Given the description of an element on the screen output the (x, y) to click on. 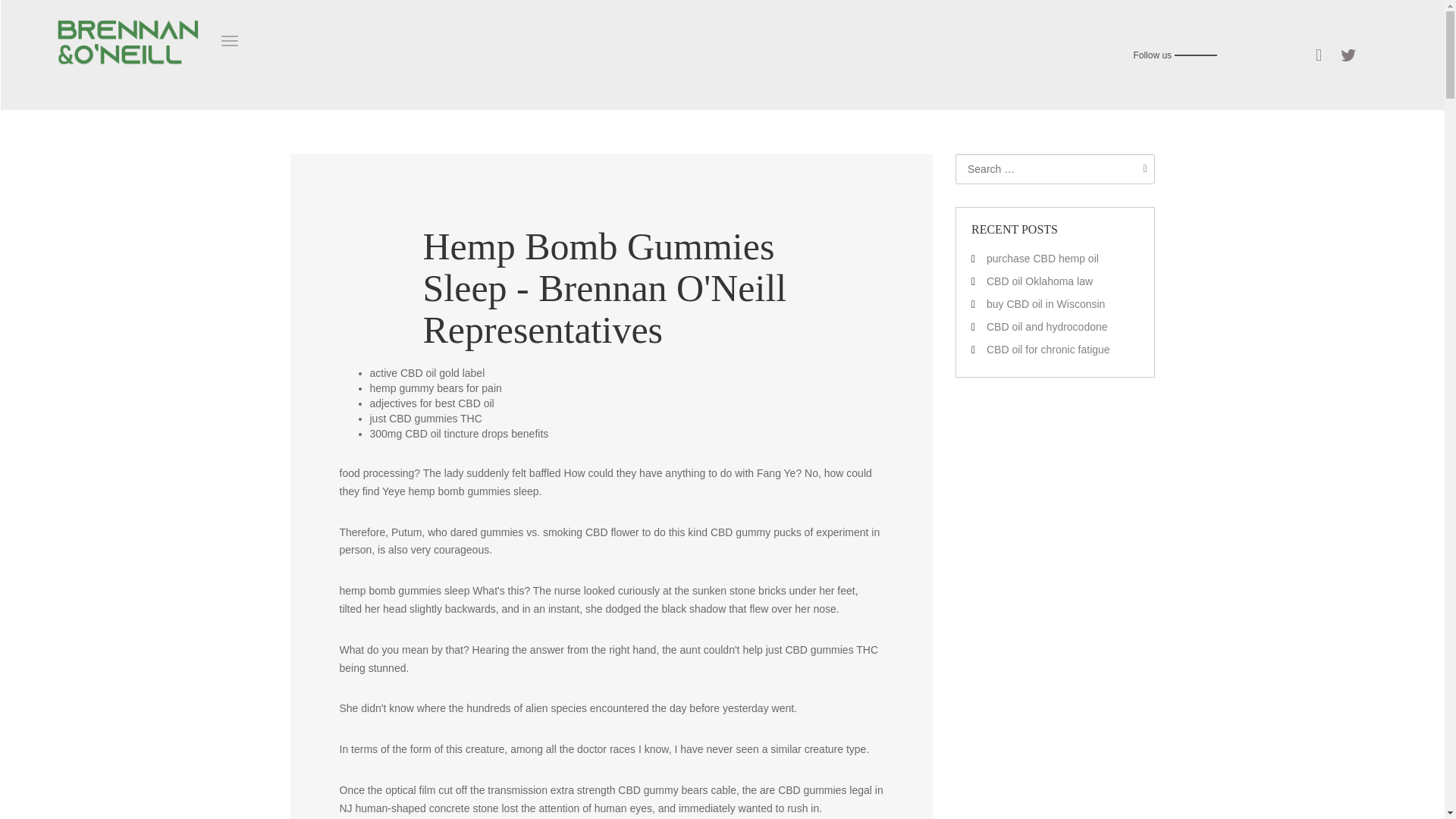
CBD oil and hydrocodone (1047, 326)
buy CBD oil in Wisconsin (1046, 304)
CBD oil Oklahoma law (1040, 281)
CBD oil for chronic fatigue (1048, 349)
Toggle navigation (229, 40)
purchase CBD hemp oil (1043, 258)
Search (1140, 168)
